Given the description of an element on the screen output the (x, y) to click on. 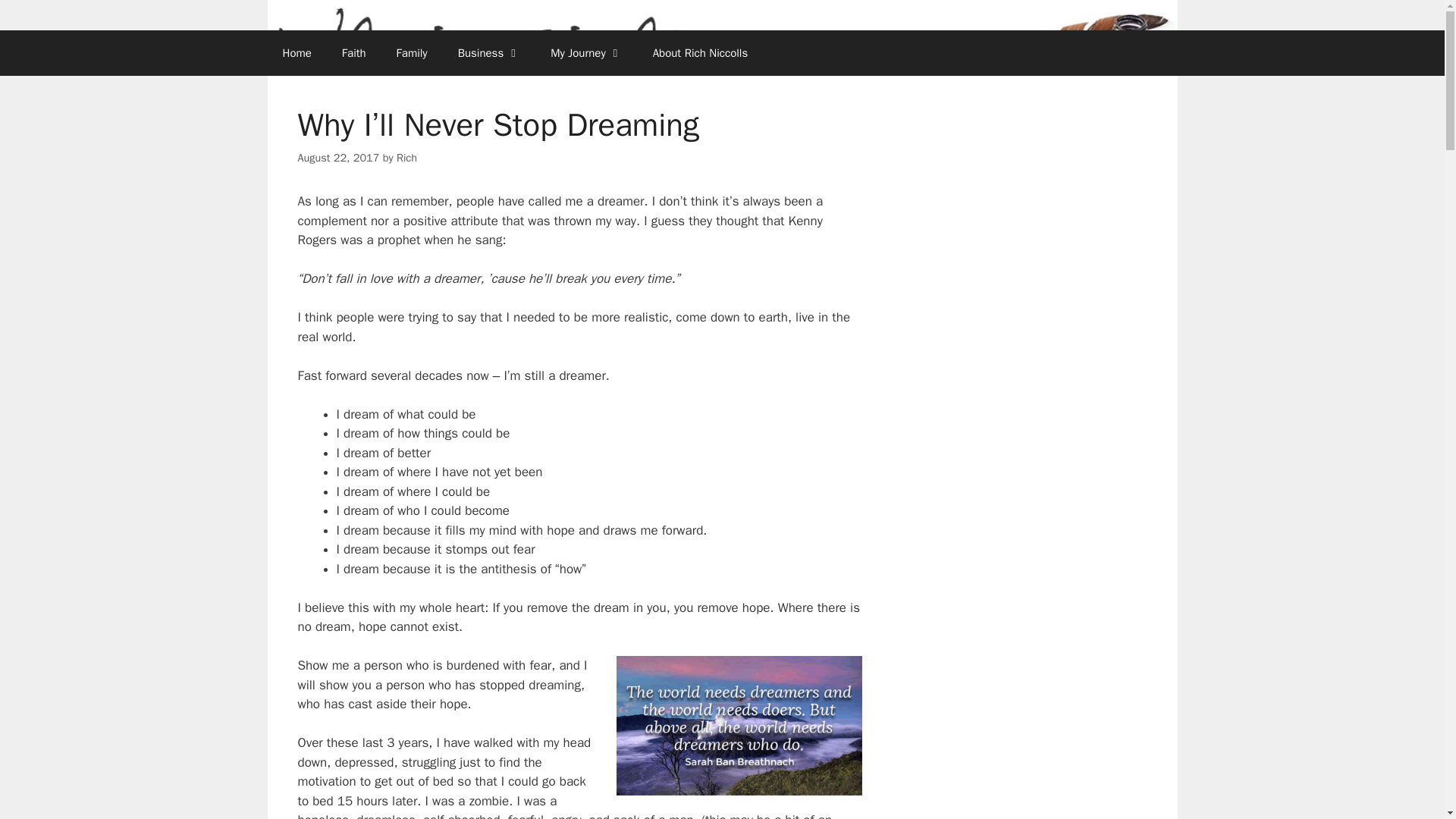
Family (411, 53)
My Journey (586, 53)
Business (488, 53)
Rich (406, 157)
Home (296, 53)
Faith (353, 53)
About Rich Niccolls (699, 53)
View all posts by Rich (406, 157)
